Given the description of an element on the screen output the (x, y) to click on. 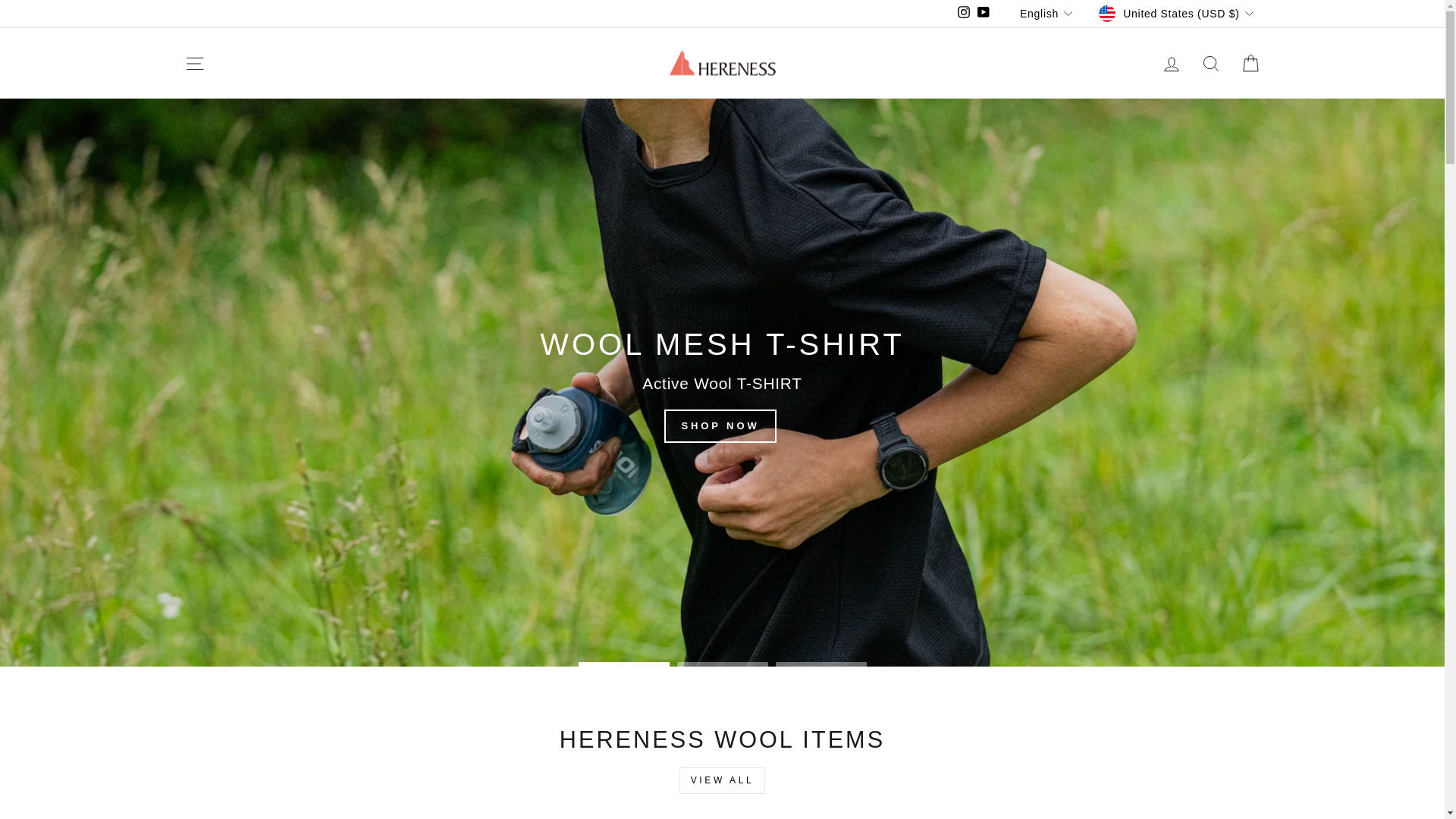
instagram (963, 11)
ICON-HAMBURGER (194, 63)
ICON-SEARCH (1210, 63)
English (1048, 13)
ACCOUNT (1170, 64)
